Given the description of an element on the screen output the (x, y) to click on. 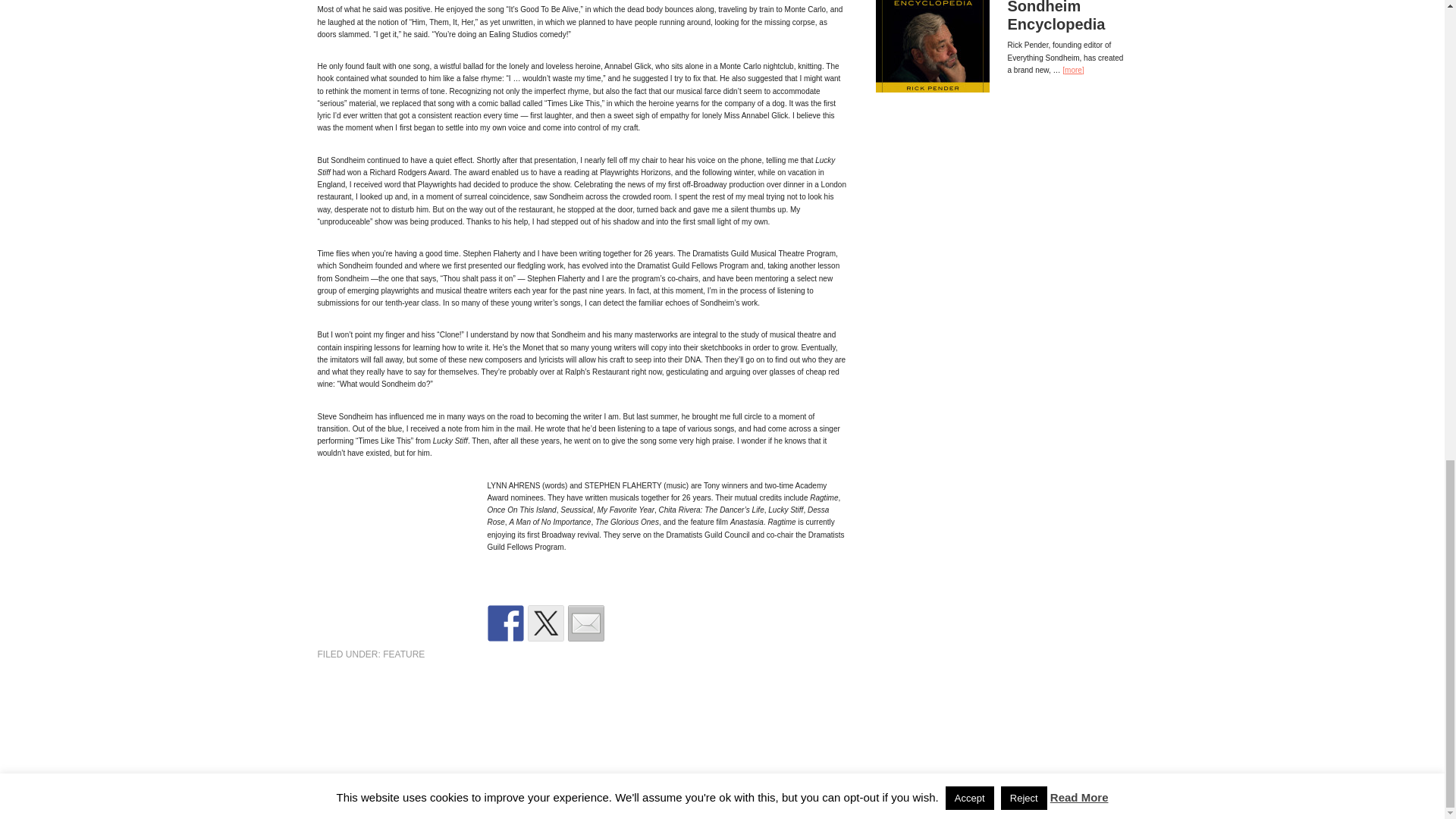
Share by email (585, 623)
Share on Twitter (545, 623)
FEATURE (403, 654)
Share on Facebook (504, 623)
